Given the description of an element on the screen output the (x, y) to click on. 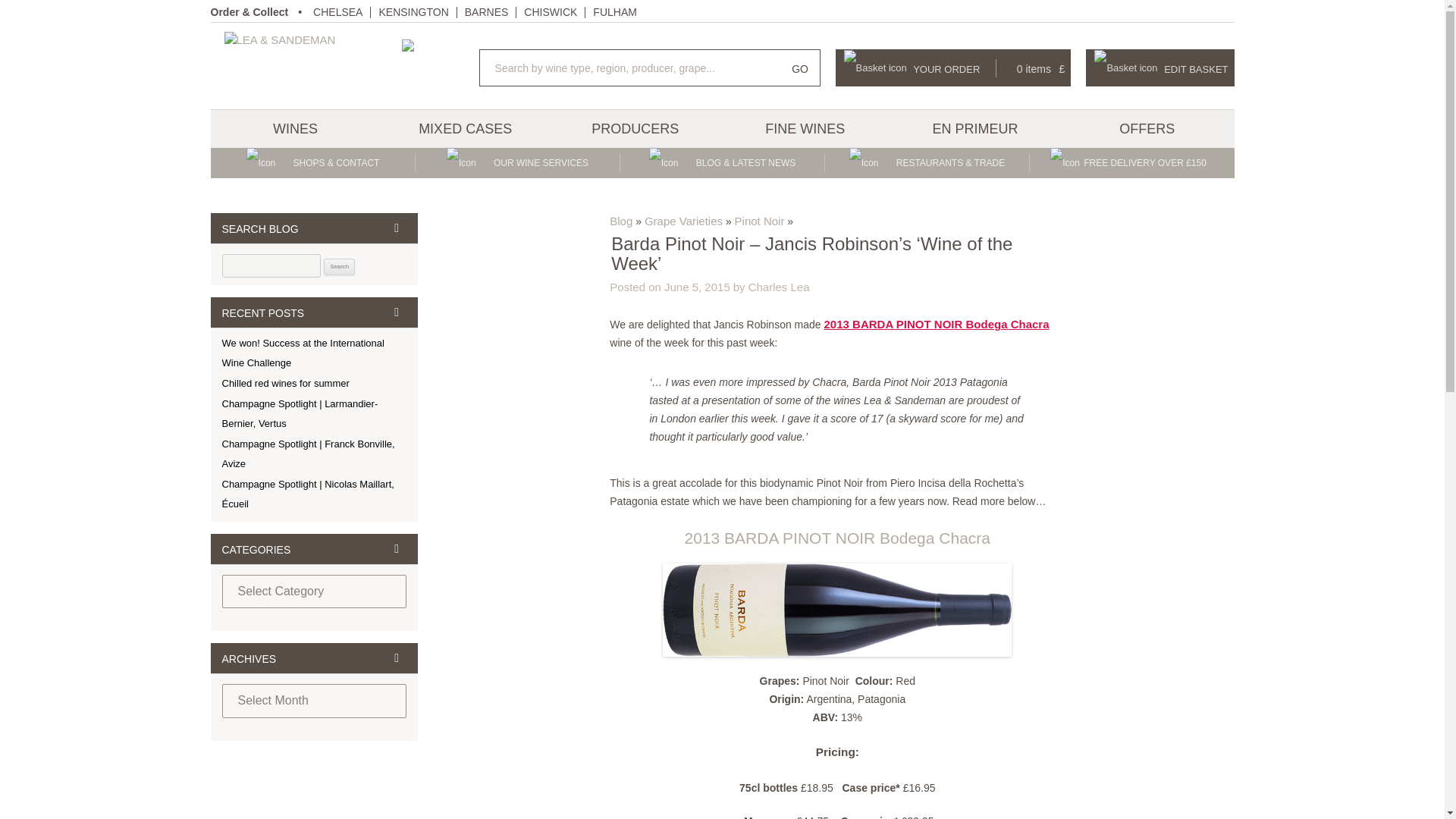
Search (339, 266)
BARNES (486, 11)
View basket dropdown (953, 67)
CHISWICK (550, 11)
FULHAM (614, 11)
2013 BARDA PINOT NOIR Bodega Chacra (936, 323)
KENSINGTON (413, 11)
CHELSEA (337, 11)
